Given the description of an element on the screen output the (x, y) to click on. 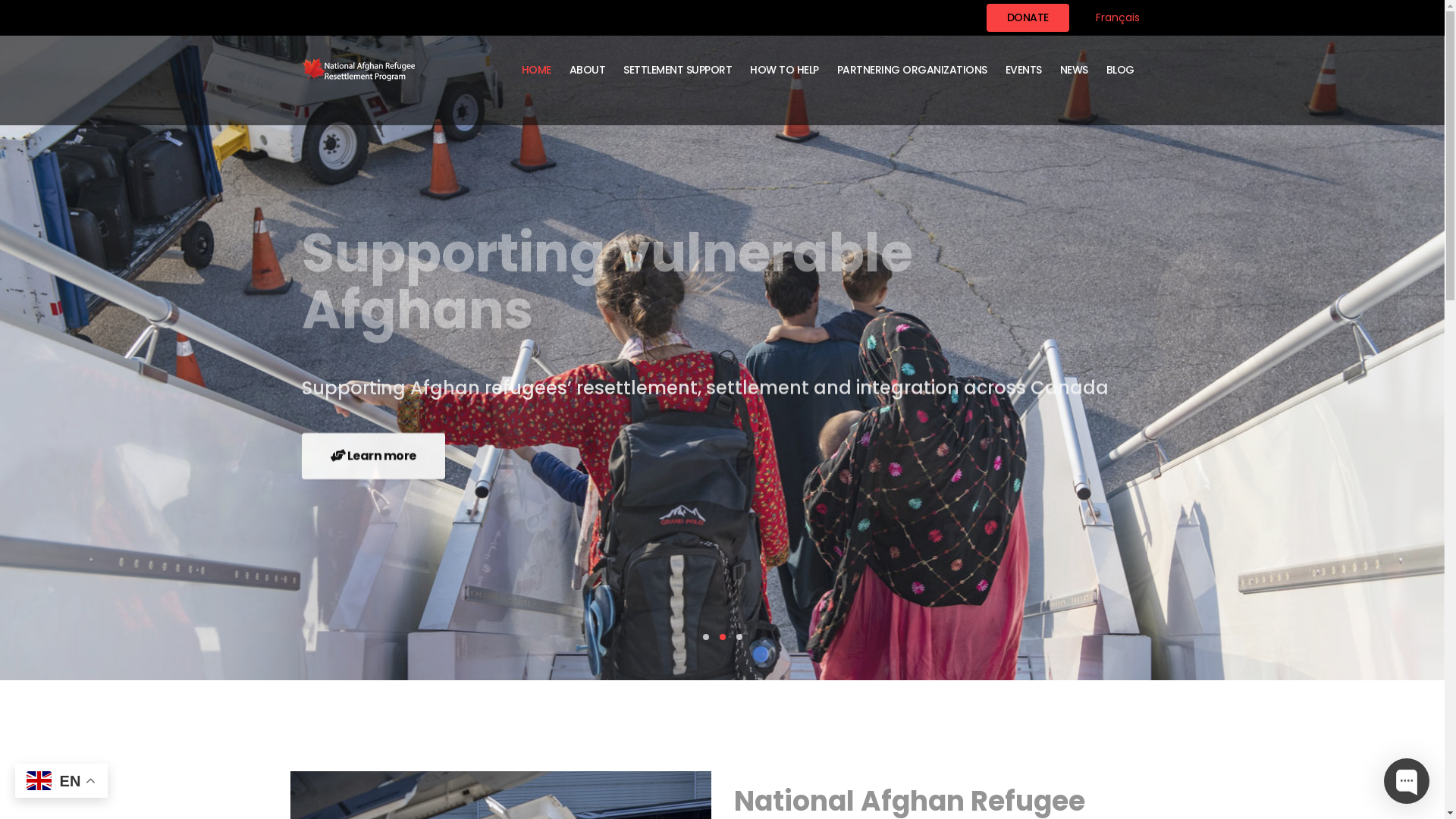
SETTLEMENT SUPPORT Element type: text (677, 69)
NEWS Element type: text (1074, 69)
Learn more Element type: text (373, 456)
ABOUT Element type: text (586, 69)
HOME Element type: text (536, 69)
BLOG Element type: text (1119, 69)
HOW TO HELP Element type: text (784, 69)
PARTNERING ORGANIZATIONS Element type: text (912, 69)
DONATE Element type: text (1026, 17)
EVENTS Element type: text (1023, 69)
